Given the description of an element on the screen output the (x, y) to click on. 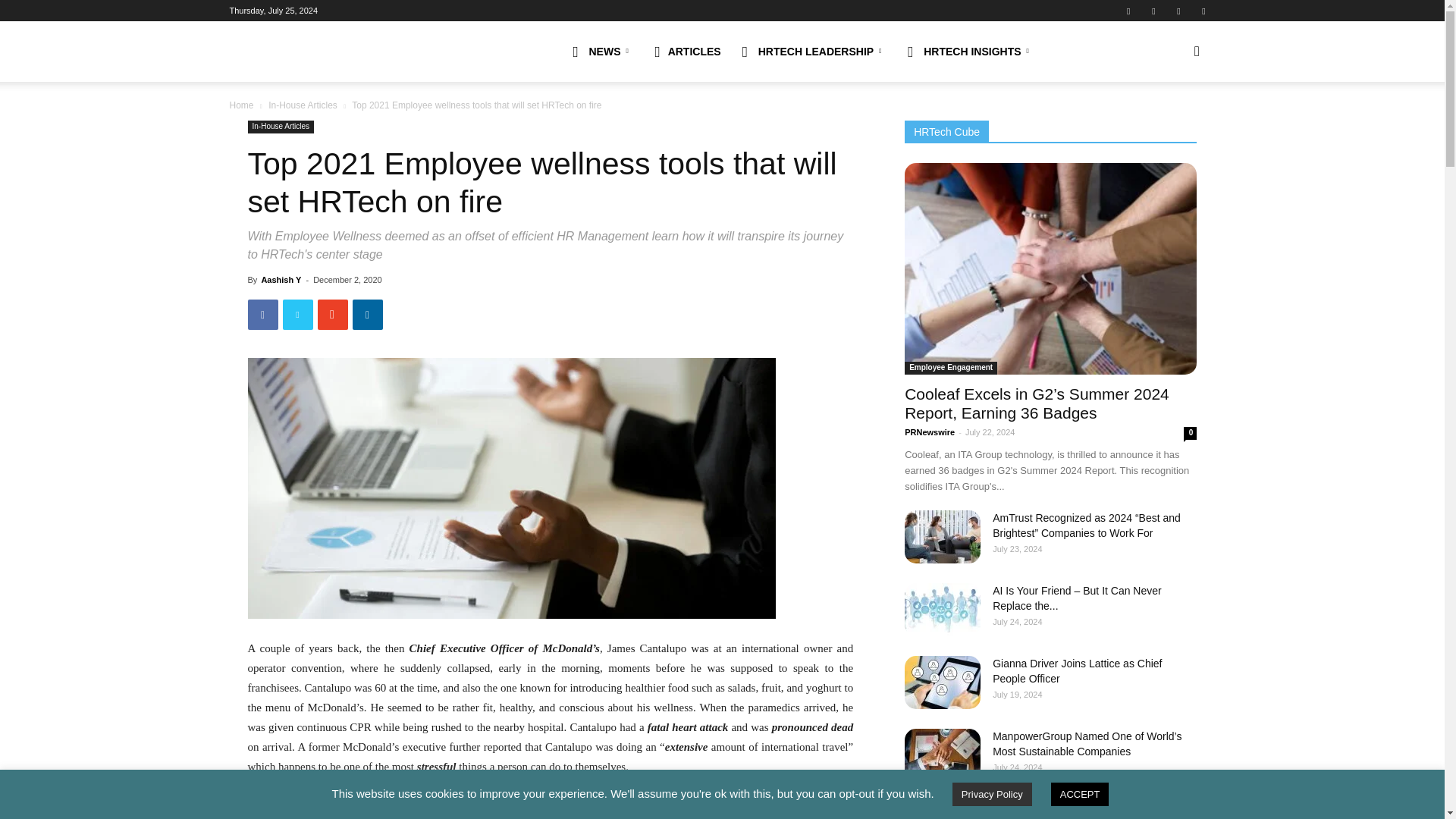
Twitter (1203, 10)
Facebook (1128, 10)
RSS (1178, 10)
View all posts in In-House Articles (302, 104)
Linkedin (1152, 10)
